Given the description of an element on the screen output the (x, y) to click on. 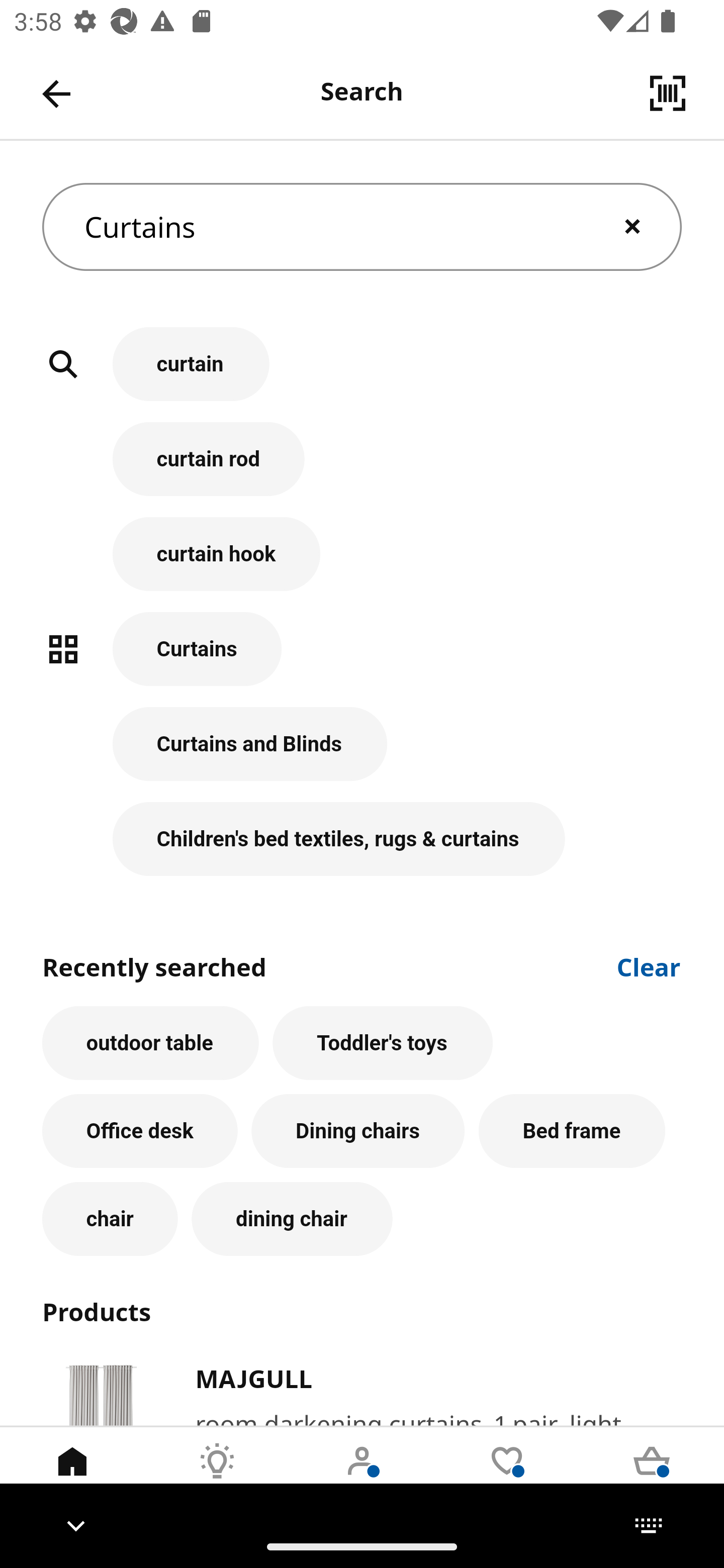
Curtains (361, 227)
curtain (361, 374)
curtain rod (361, 469)
curtain hook (361, 564)
Curtains (361, 659)
Curtains and Blinds (361, 754)
Children's bed textiles, rugs & curtains (361, 839)
Clear (649, 965)
outdoor table (150, 1043)
Toddler's toys (382, 1043)
Office desk (139, 1131)
Dining chairs (357, 1131)
Bed frame (571, 1131)
chair (109, 1218)
dining chair (291, 1218)
Home
Tab 1 of 5 (72, 1476)
Inspirations
Tab 2 of 5 (216, 1476)
User
Tab 3 of 5 (361, 1476)
Wishlist
Tab 4 of 5 (506, 1476)
Cart
Tab 5 of 5 (651, 1476)
